Given the description of an element on the screen output the (x, y) to click on. 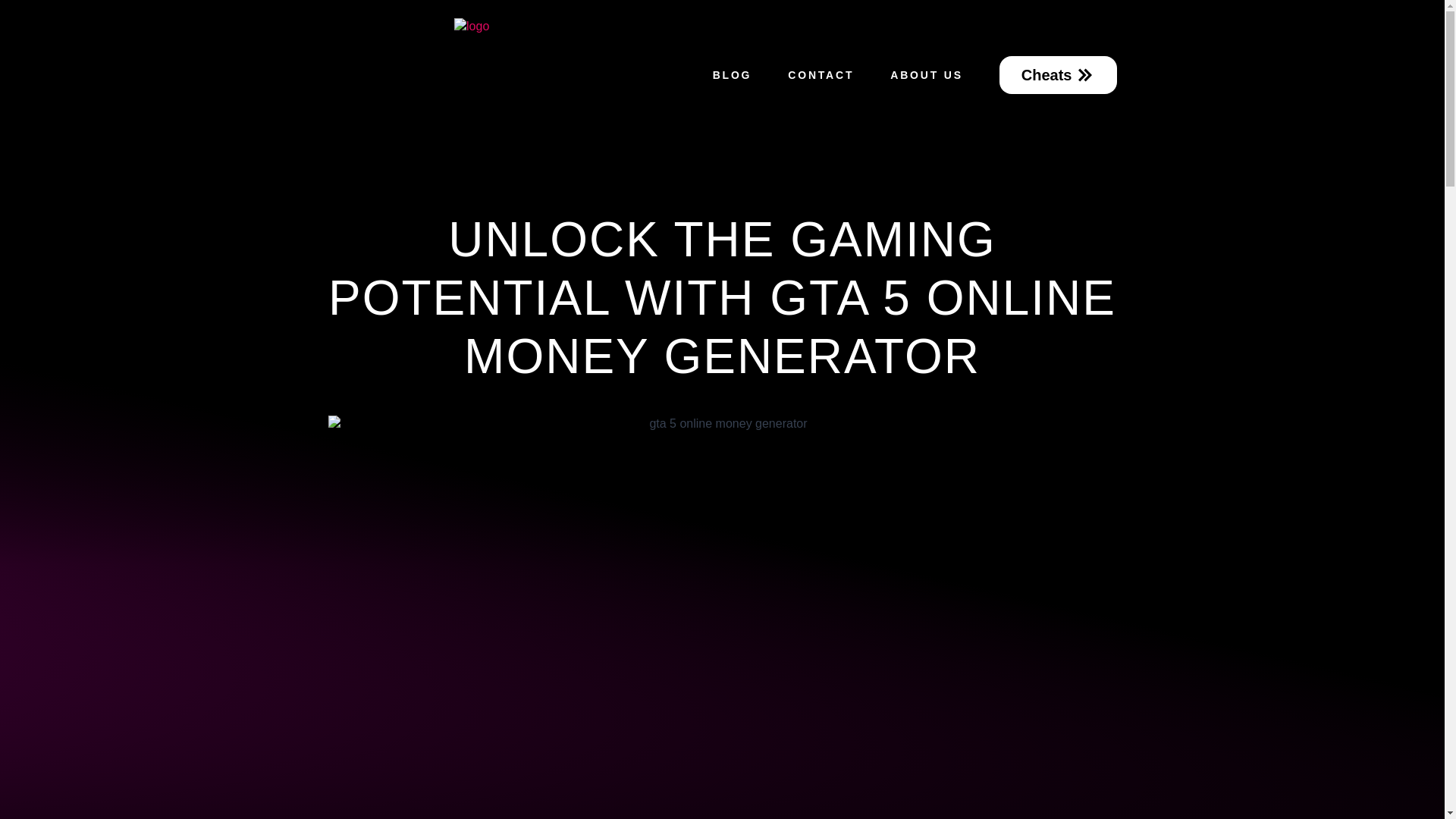
ABOUT US (926, 74)
Cheats (1057, 75)
BLOG (732, 74)
CONTACT (821, 74)
